Given the description of an element on the screen output the (x, y) to click on. 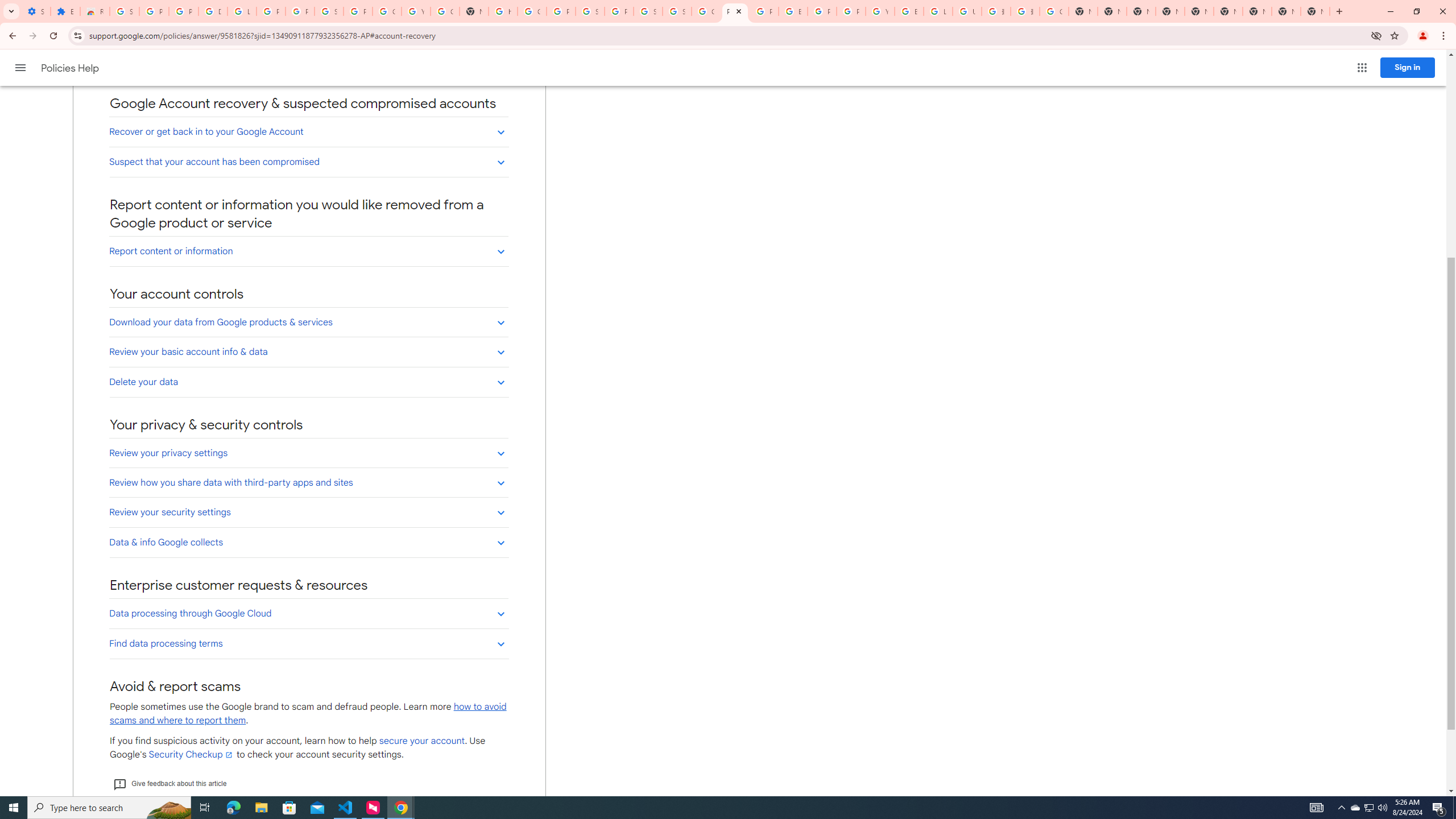
New Tab (1256, 11)
Sign in - Google Accounts (327, 11)
Review your security settings (308, 512)
Policies Help (70, 68)
Main menu (20, 67)
Delete photos & videos - Computer - Google Photos Help (212, 11)
Extensions (65, 11)
